Given the description of an element on the screen output the (x, y) to click on. 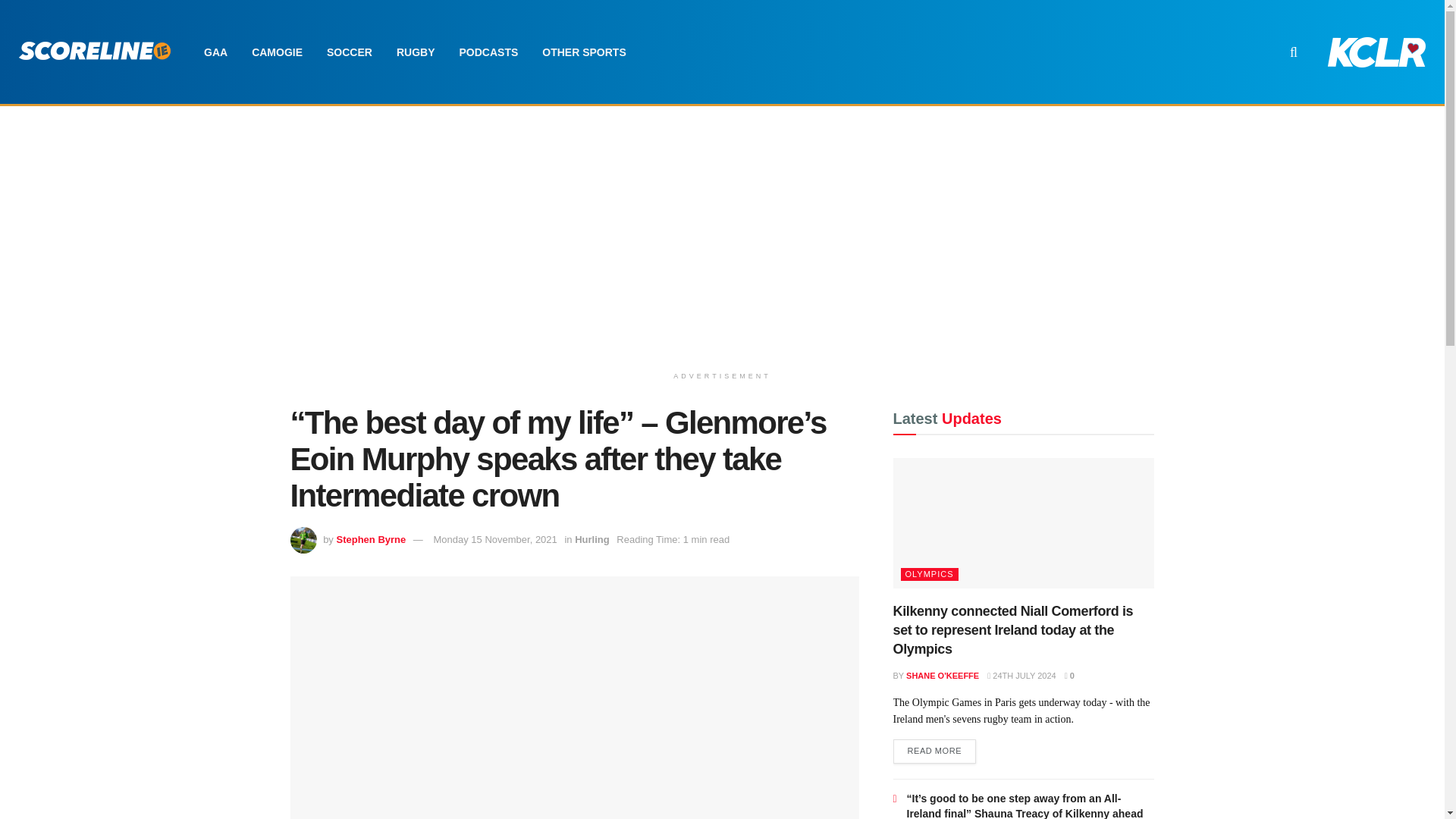
Monday 15 November, 2021 (494, 539)
GAA (216, 52)
Stephen Byrne (371, 539)
OLYMPICS (929, 574)
SOCCER (349, 52)
Hurling (592, 539)
RUGBY (415, 52)
CAMOGIE (277, 52)
24TH JULY 2024 (1021, 675)
PODCASTS (487, 52)
OTHER SPORTS (583, 52)
READ MORE (934, 751)
SHANE O'KEEFFE (941, 675)
